Given the description of an element on the screen output the (x, y) to click on. 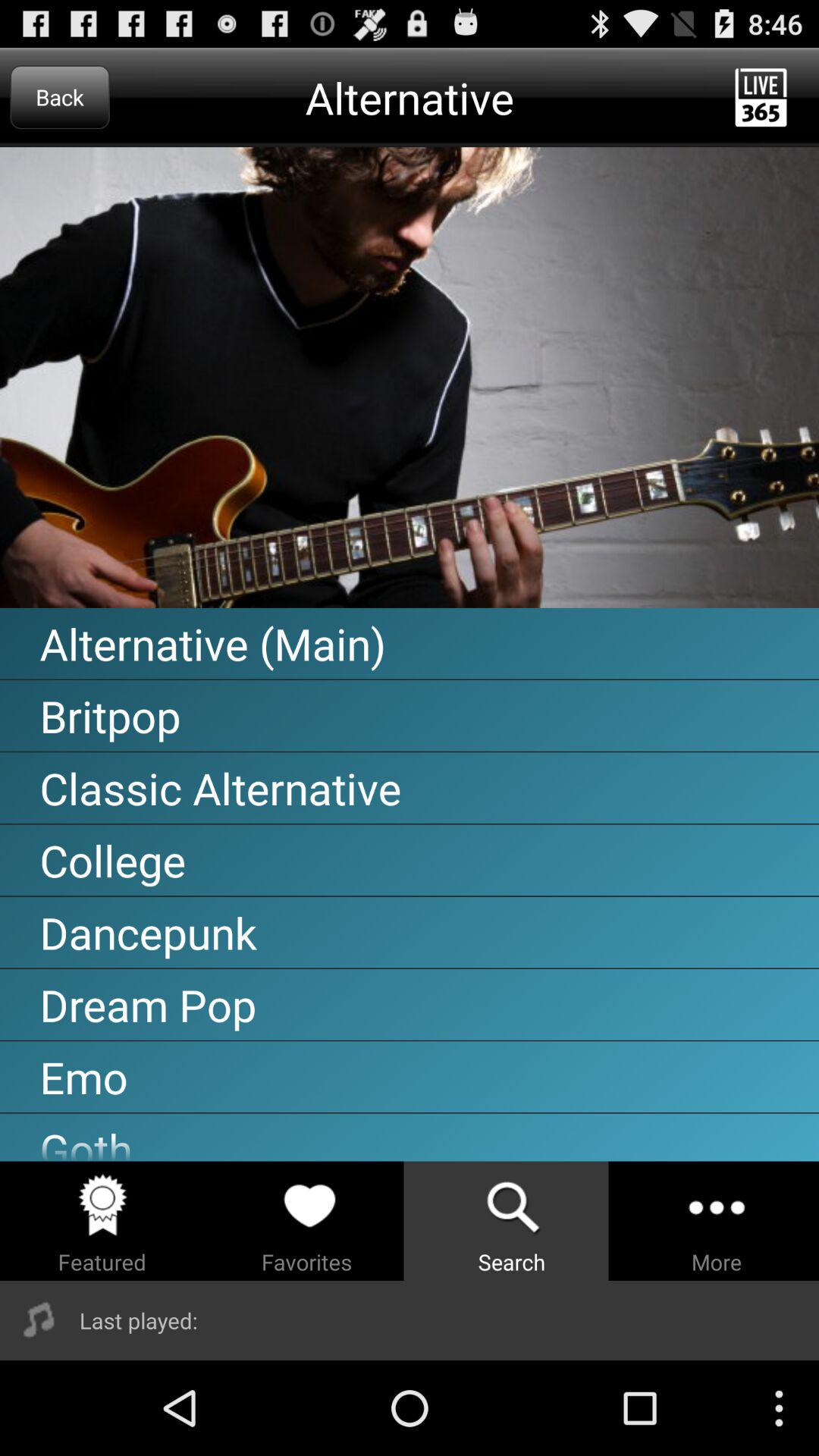
logo image (409, 377)
